Given the description of an element on the screen output the (x, y) to click on. 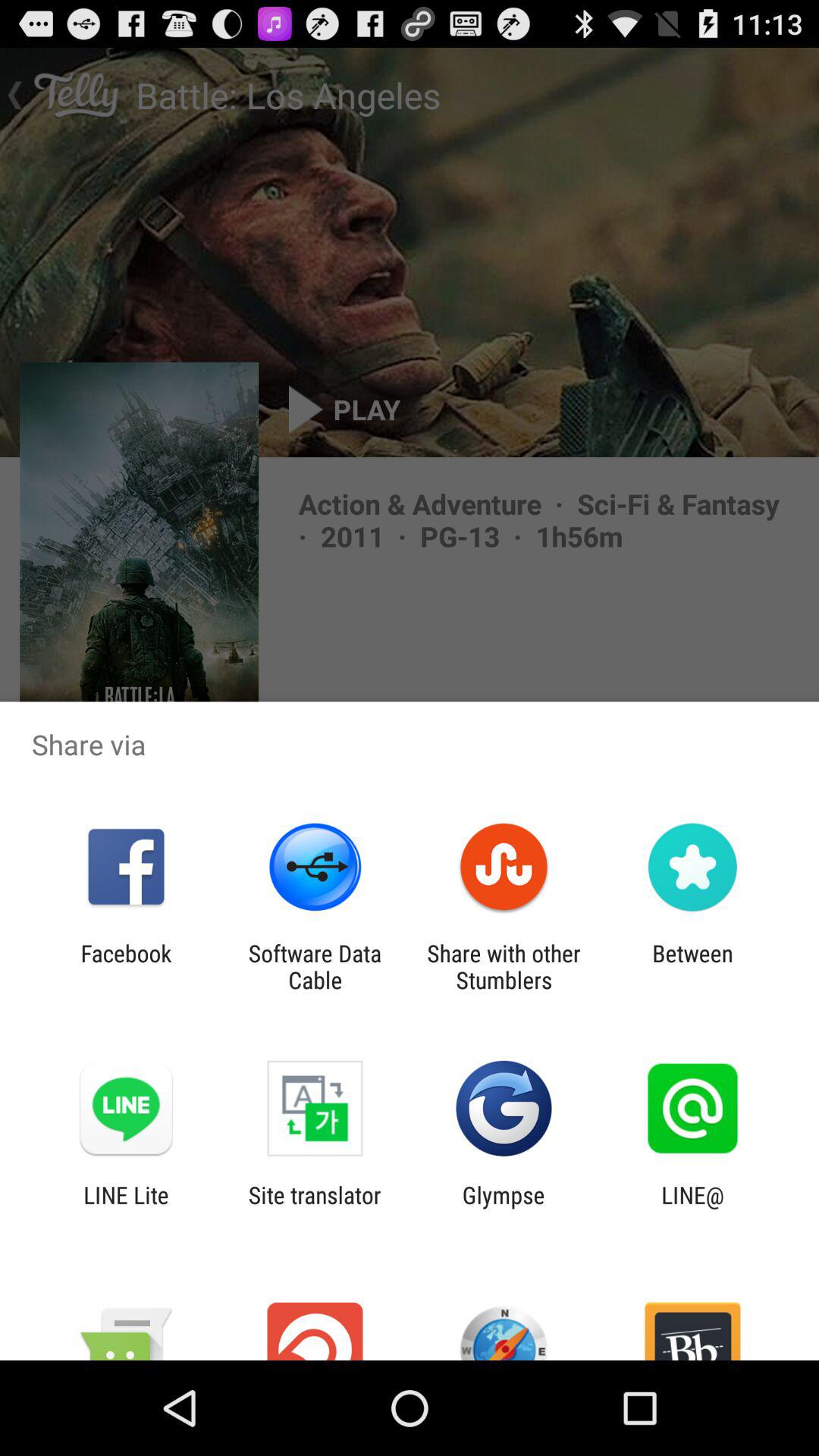
turn on app to the left of the software data cable icon (125, 966)
